Given the description of an element on the screen output the (x, y) to click on. 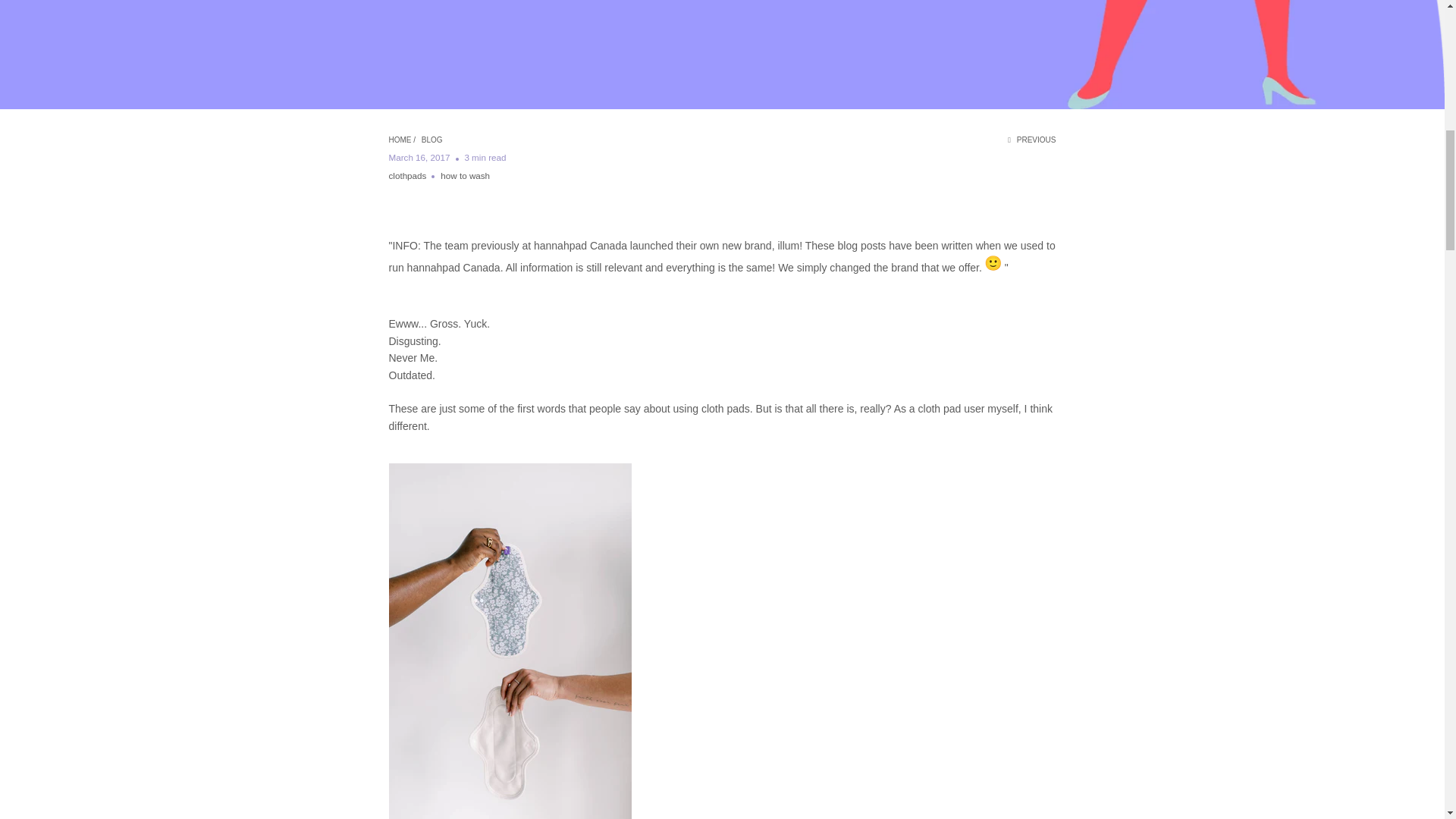
Blog (432, 139)
Blog tagged how to wash (465, 175)
Blog tagged clothpads (407, 175)
illum Canada (399, 139)
